Given the description of an element on the screen output the (x, y) to click on. 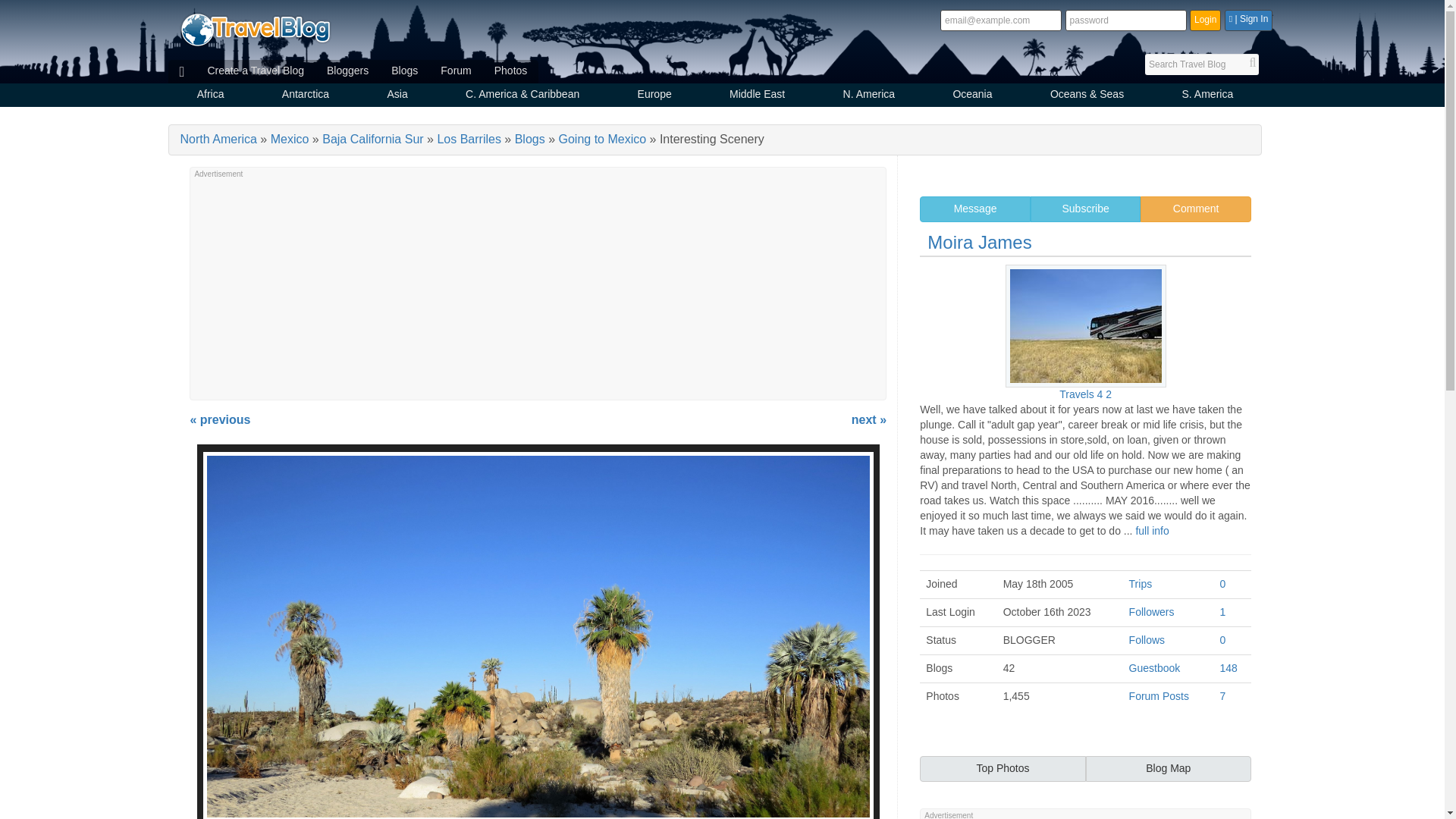
N. America (868, 95)
Forum (455, 71)
Create a Travel Blog (255, 71)
Middle East (756, 95)
Bloggers (347, 71)
S. America (1207, 95)
Blogs (404, 71)
Sign in with Facebook (1248, 20)
Login (1205, 20)
Photos (510, 71)
Asia (397, 95)
Oceania (972, 95)
Africa (210, 95)
Antarctica (305, 95)
